Given the description of an element on the screen output the (x, y) to click on. 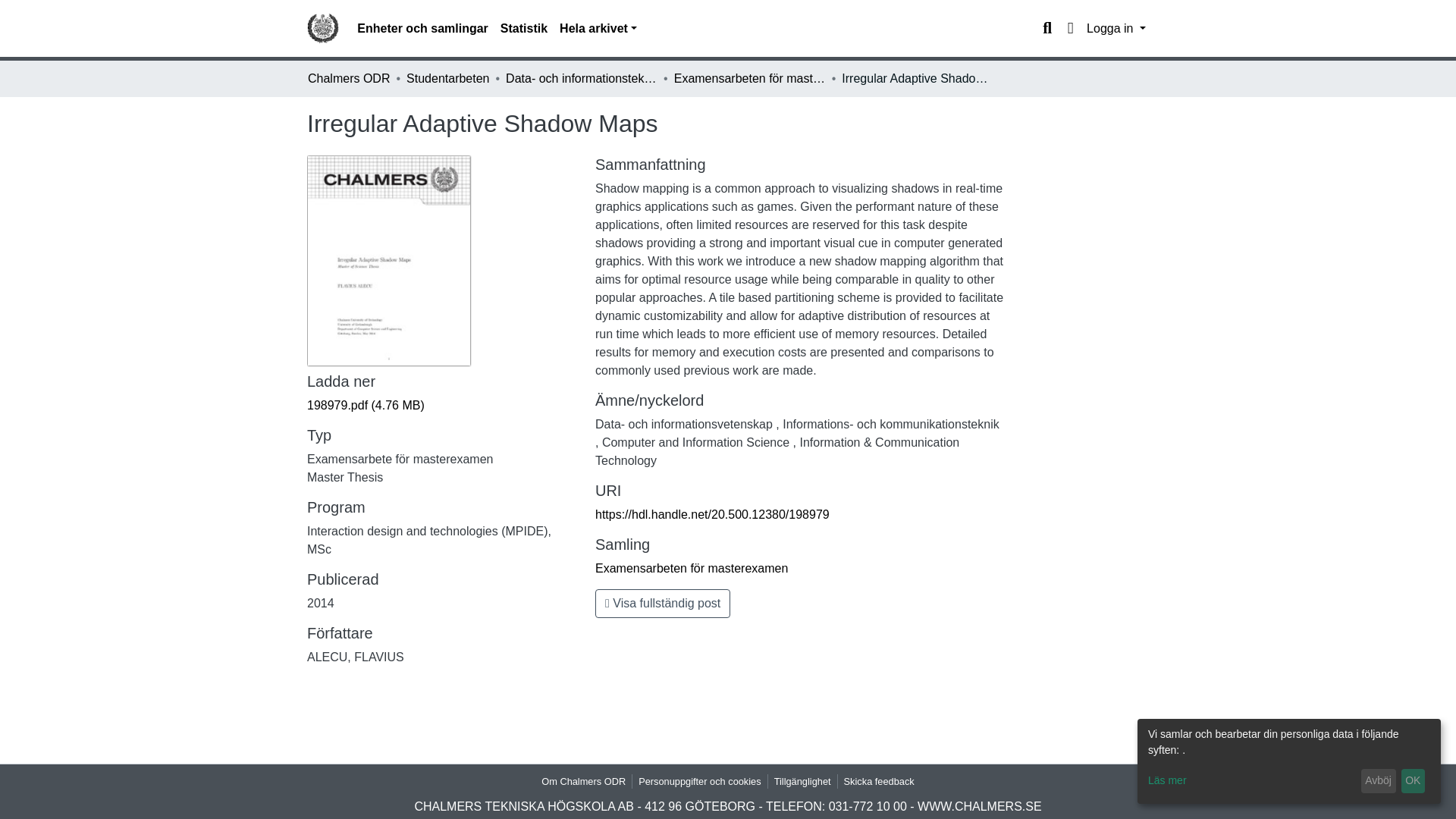
Statistik (524, 28)
Studentarbeten (447, 78)
Enheter och samlingar (422, 28)
Hela arkivet (598, 28)
WWW.CHALMERS.SE (979, 806)
Personuppgifter och cookies (699, 780)
OK (1412, 781)
Om Chalmers ODR (583, 780)
Logga in (1115, 28)
Statistik (524, 28)
